Given the description of an element on the screen output the (x, y) to click on. 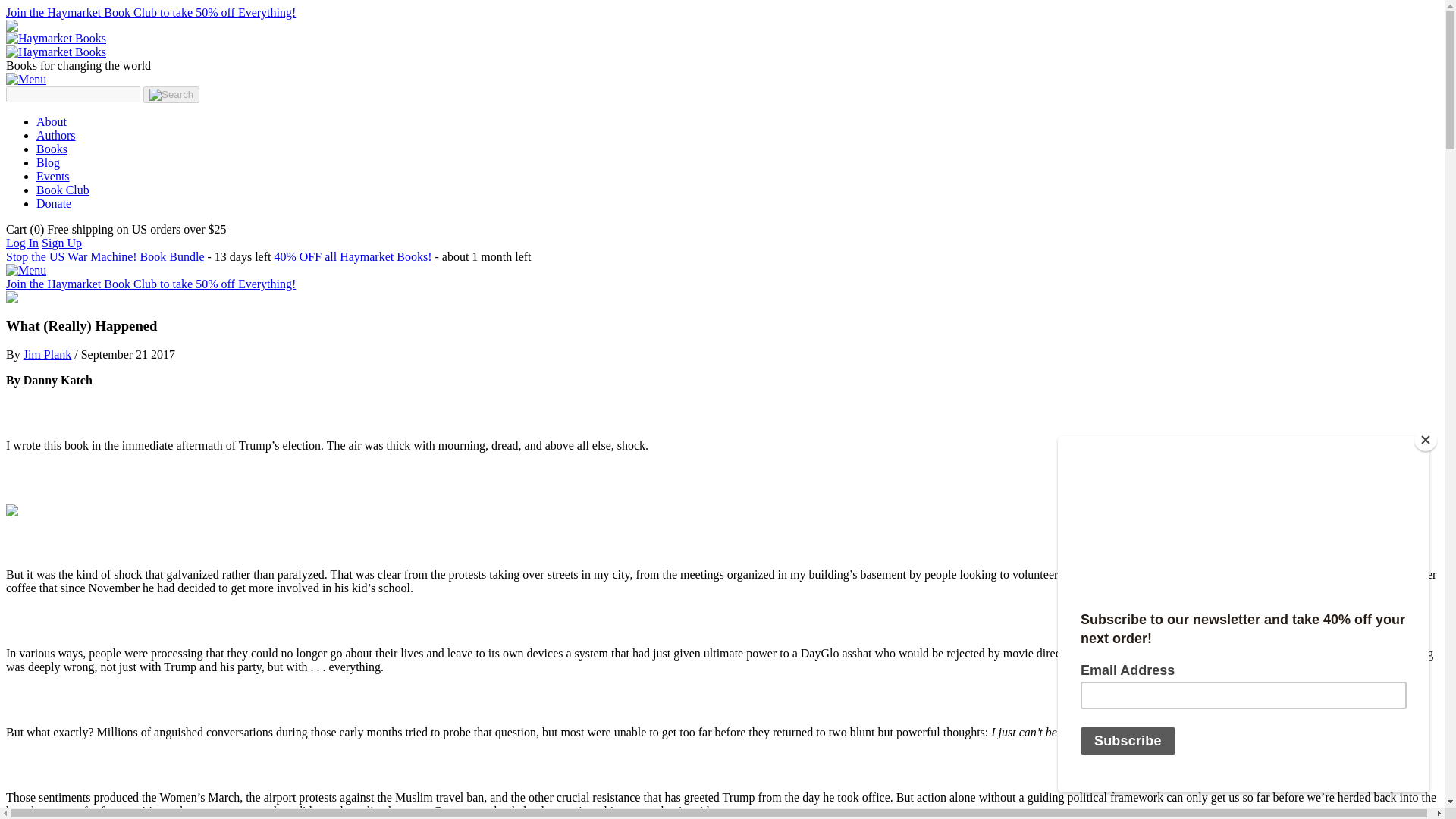
Events (52, 175)
Jim Plank (47, 354)
Books (51, 148)
Authors (55, 134)
About (51, 121)
Blog (47, 162)
Sign Up (61, 242)
Log In (22, 242)
Book Club (62, 189)
Donate (53, 203)
Stop the US War Machine! Book Bundle (105, 256)
